Given the description of an element on the screen output the (x, y) to click on. 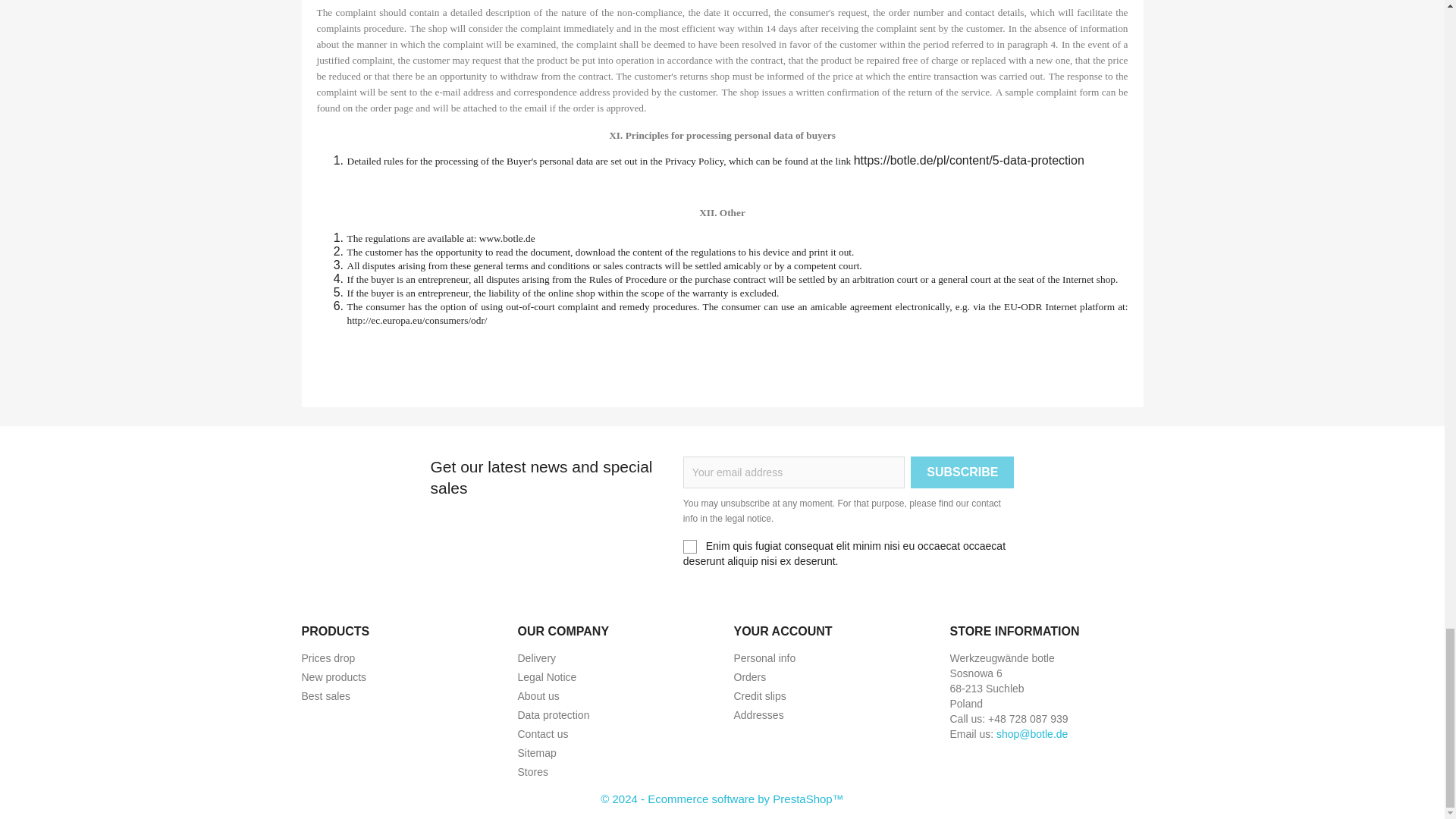
Addresses (758, 715)
Personal info (764, 657)
Our special products (328, 657)
Use our form to contact us (541, 734)
Delivery (536, 657)
Stores (531, 771)
Data protection (552, 715)
Orders (750, 676)
Orders (750, 676)
Subscribe (962, 472)
